Given the description of an element on the screen output the (x, y) to click on. 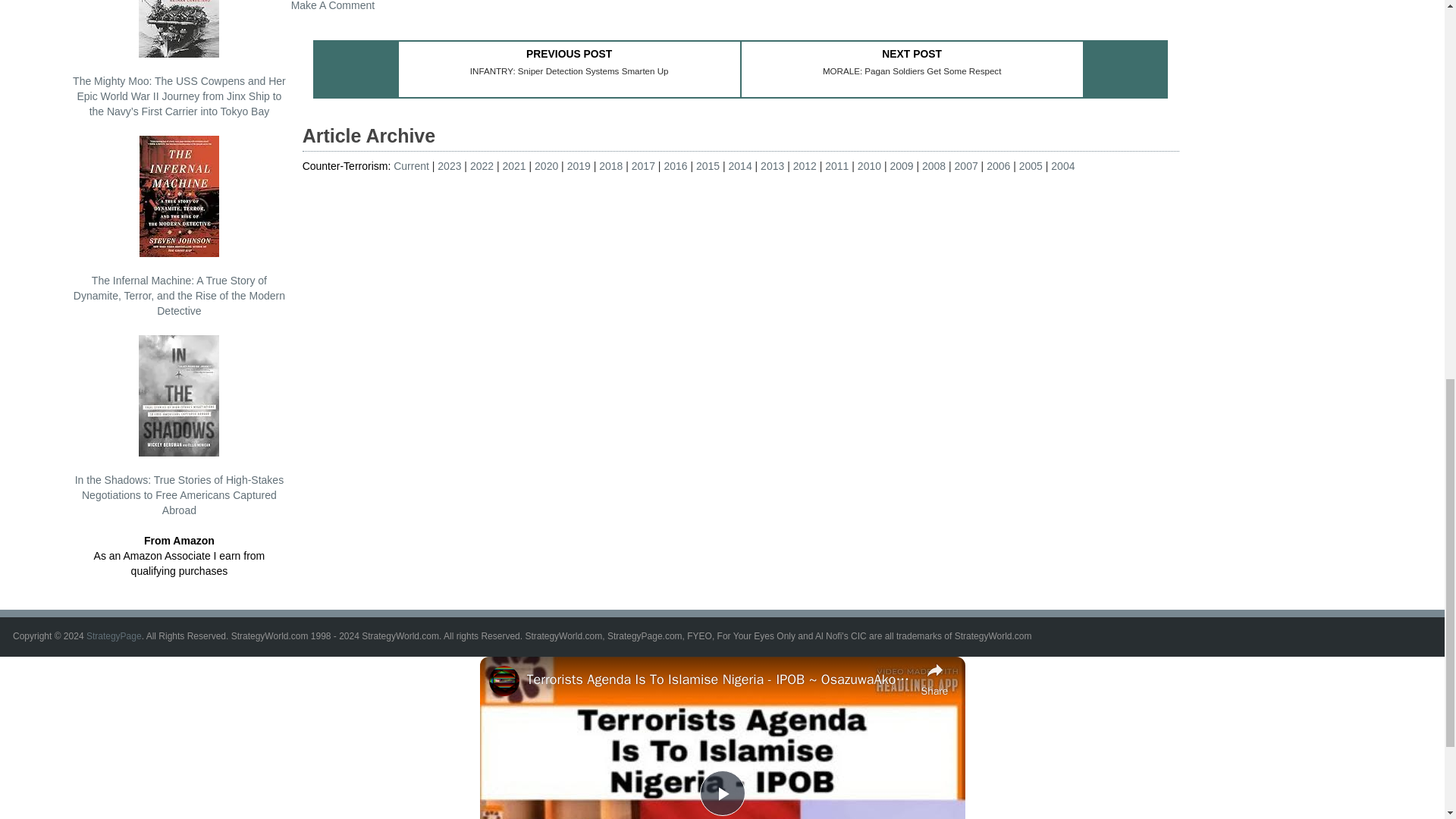
Play Video (721, 792)
